Given the description of an element on the screen output the (x, y) to click on. 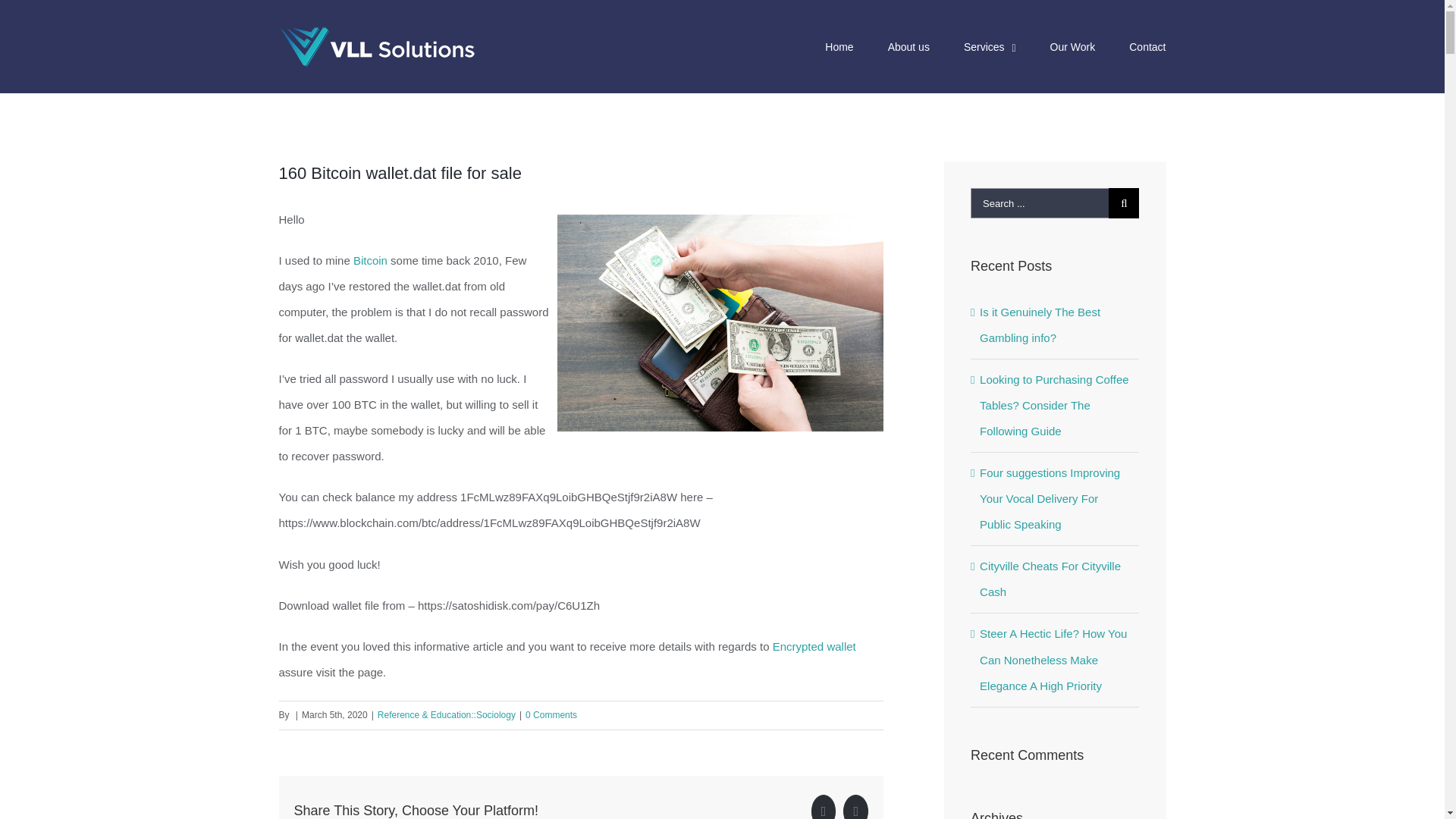
Facebook (822, 806)
0 Comments (550, 715)
Bitcoin (370, 259)
LinkedIn (855, 806)
Encrypted wallet (814, 645)
